Given the description of an element on the screen output the (x, y) to click on. 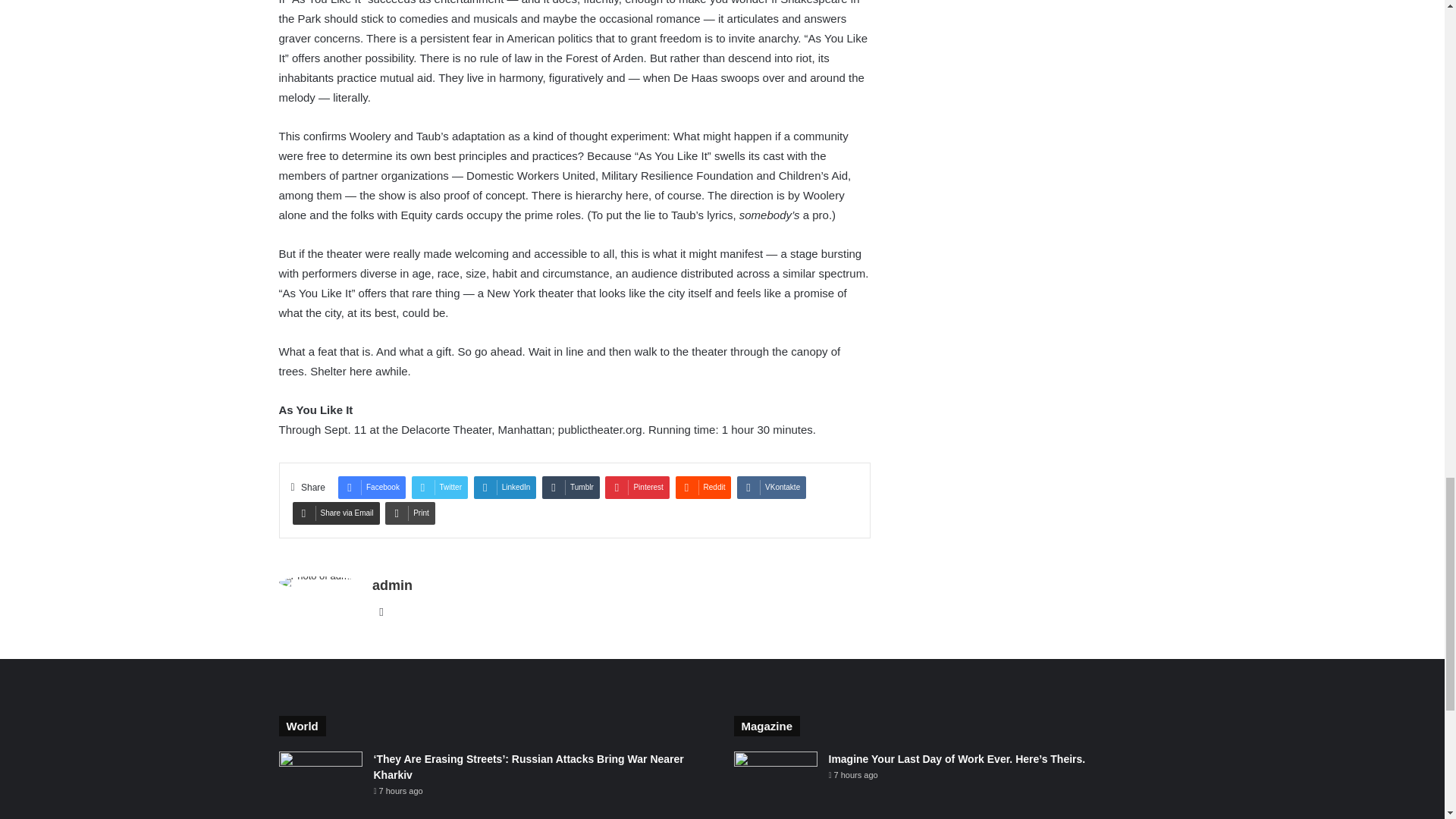
Tumblr (570, 486)
Twitter (439, 486)
Facebook (371, 486)
LinkedIn (505, 486)
